Given the description of an element on the screen output the (x, y) to click on. 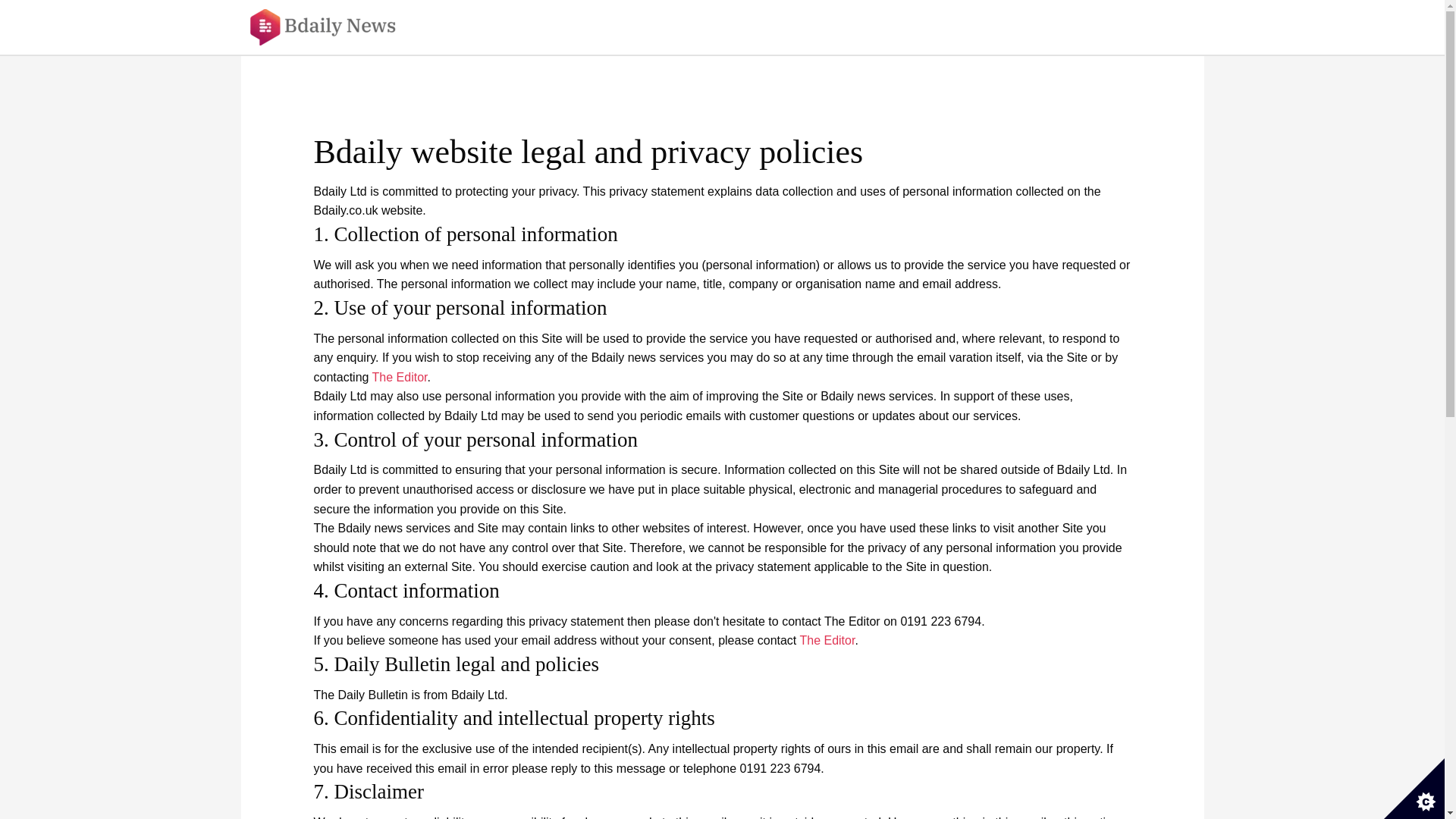
The Editor (826, 640)
The Editor (400, 377)
Bdaily (333, 27)
